Given the description of an element on the screen output the (x, y) to click on. 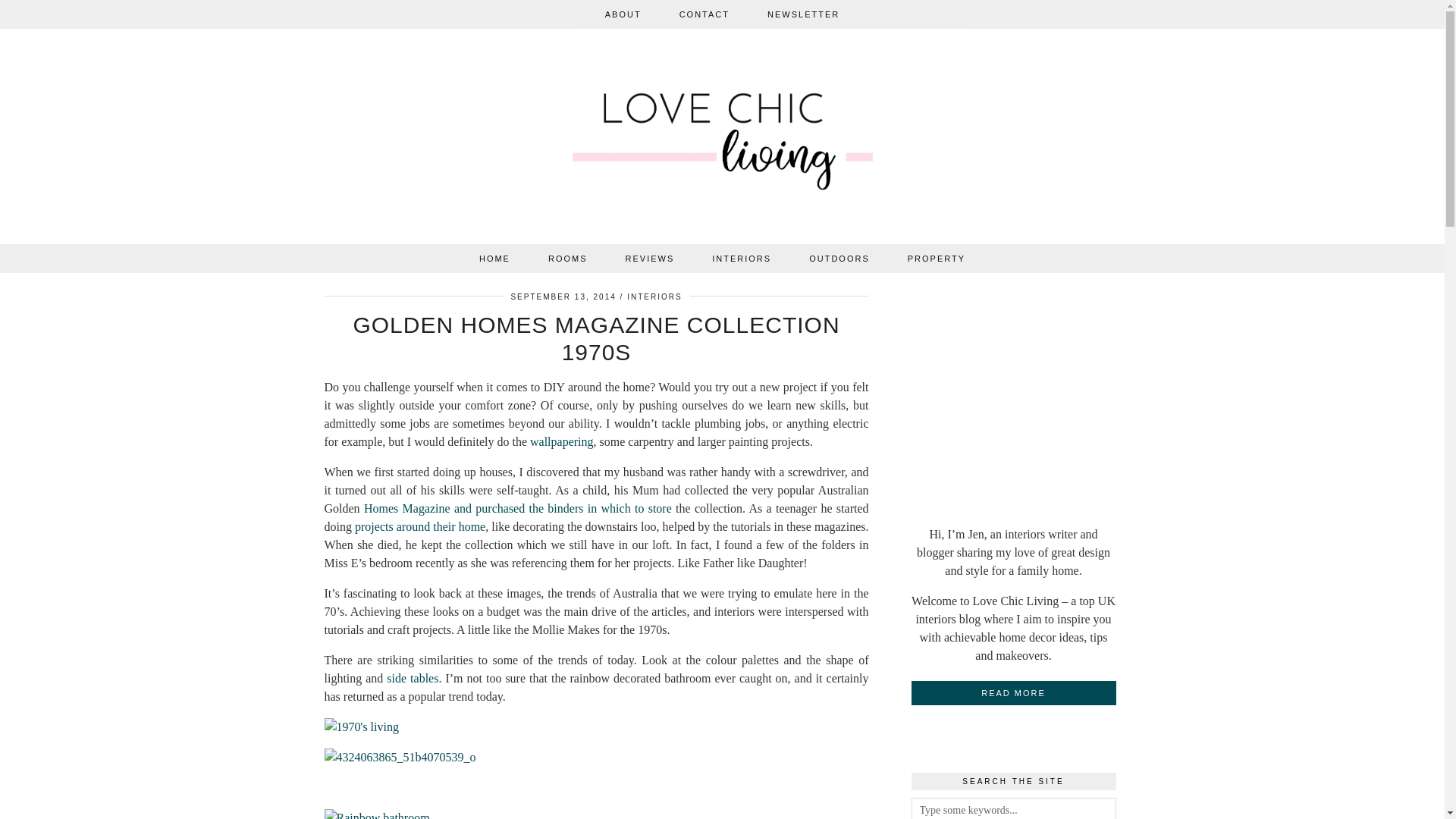
ABOUT (623, 14)
NEWSLETTER (803, 14)
Love Chic Living (722, 139)
REVIEWS (650, 258)
ROOMS (568, 258)
CONTACT (704, 14)
HOME (494, 258)
INTERIORS (741, 258)
